Given the description of an element on the screen output the (x, y) to click on. 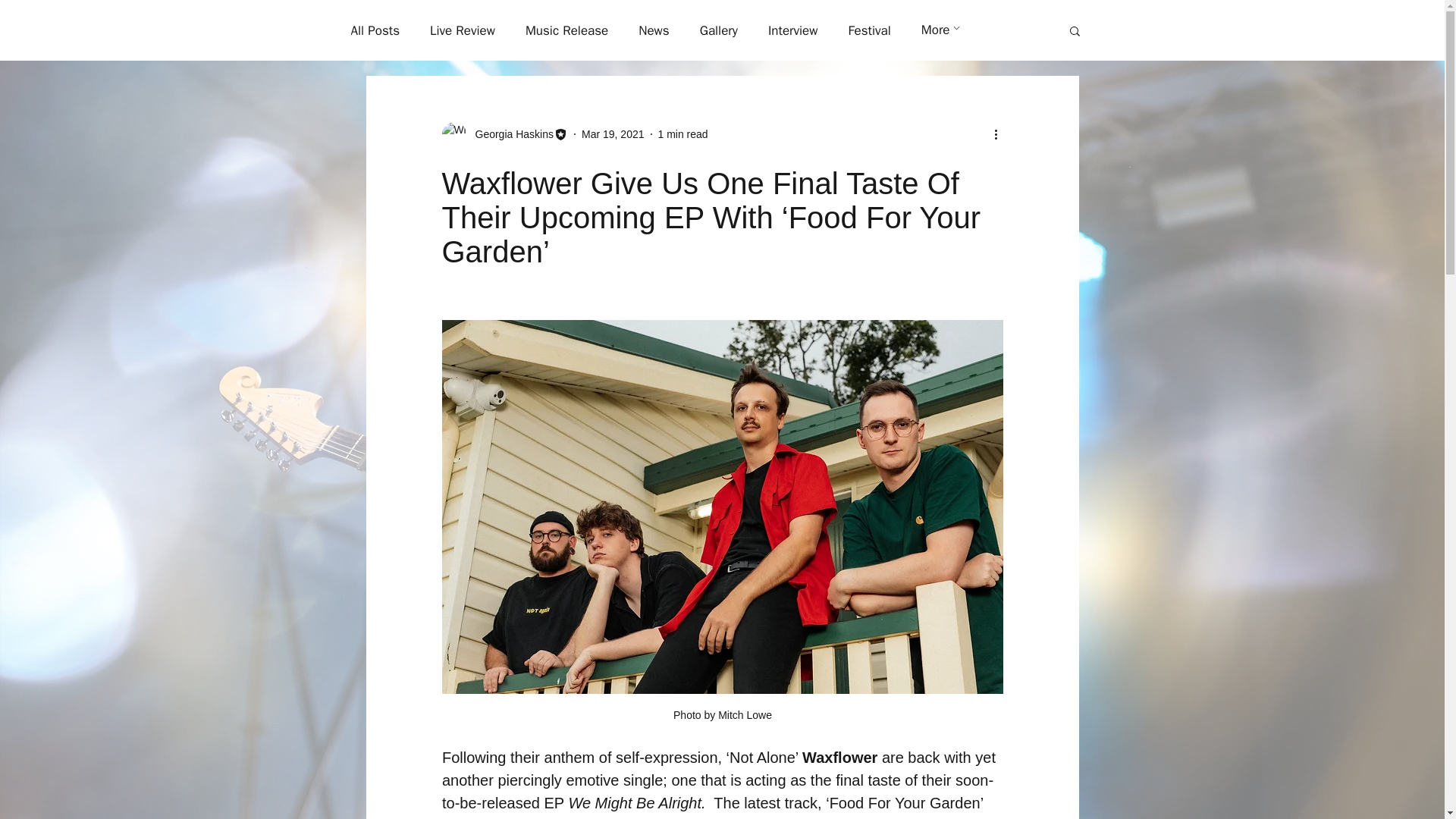
Festival (868, 29)
Music Release (566, 29)
Georgia Haskins (504, 134)
Live Review (462, 29)
News (653, 29)
Interview (793, 29)
1 min read (682, 133)
Georgia Haskins (509, 133)
Mar 19, 2021 (612, 133)
All Posts (374, 29)
Gallery (719, 29)
